Given the description of an element on the screen output the (x, y) to click on. 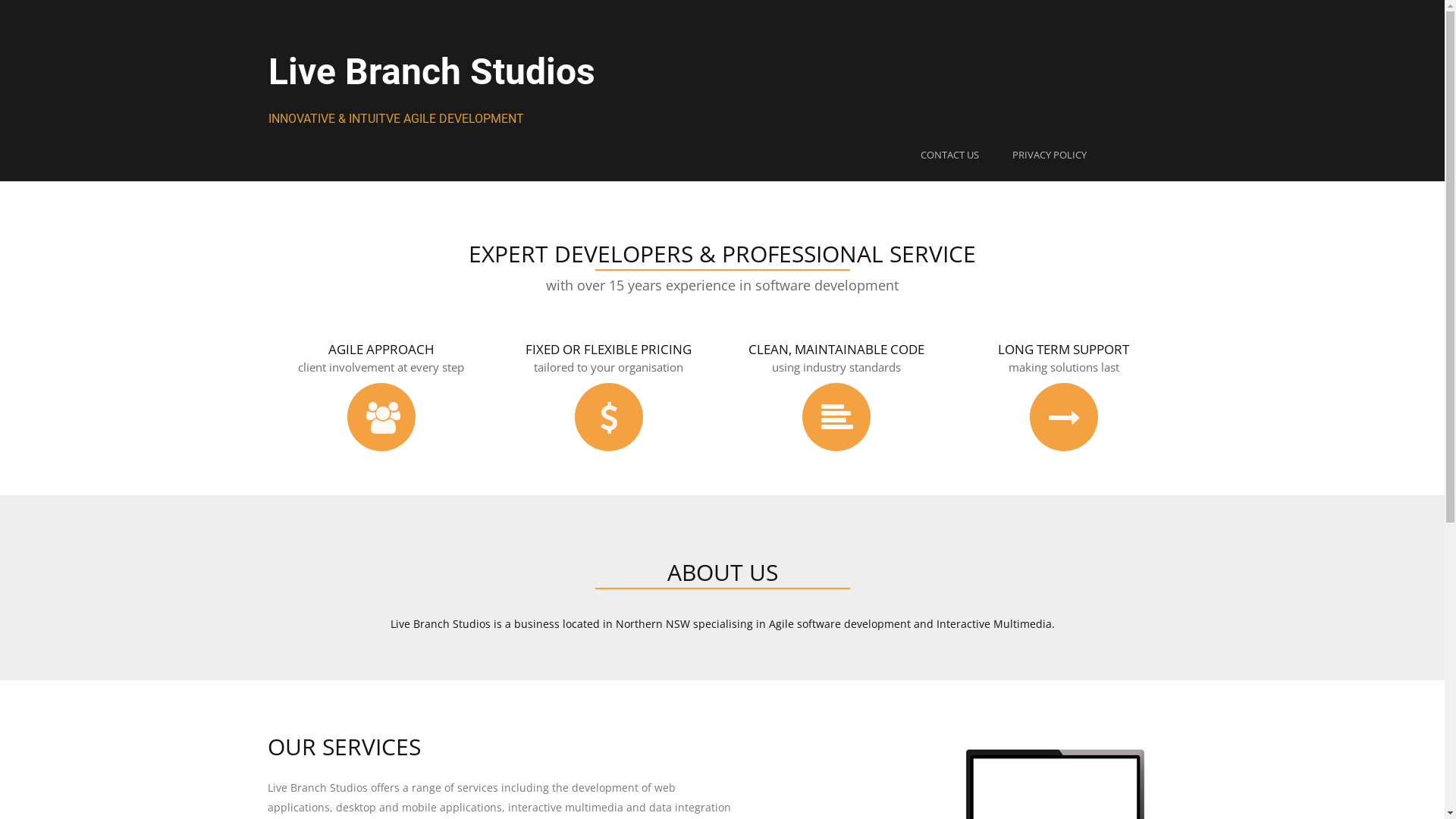
PRIVACY POLICY Element type: text (1048, 154)
CONTACT US Element type: text (949, 154)
Live Branch Studios Element type: text (431, 71)
